Given the description of an element on the screen output the (x, y) to click on. 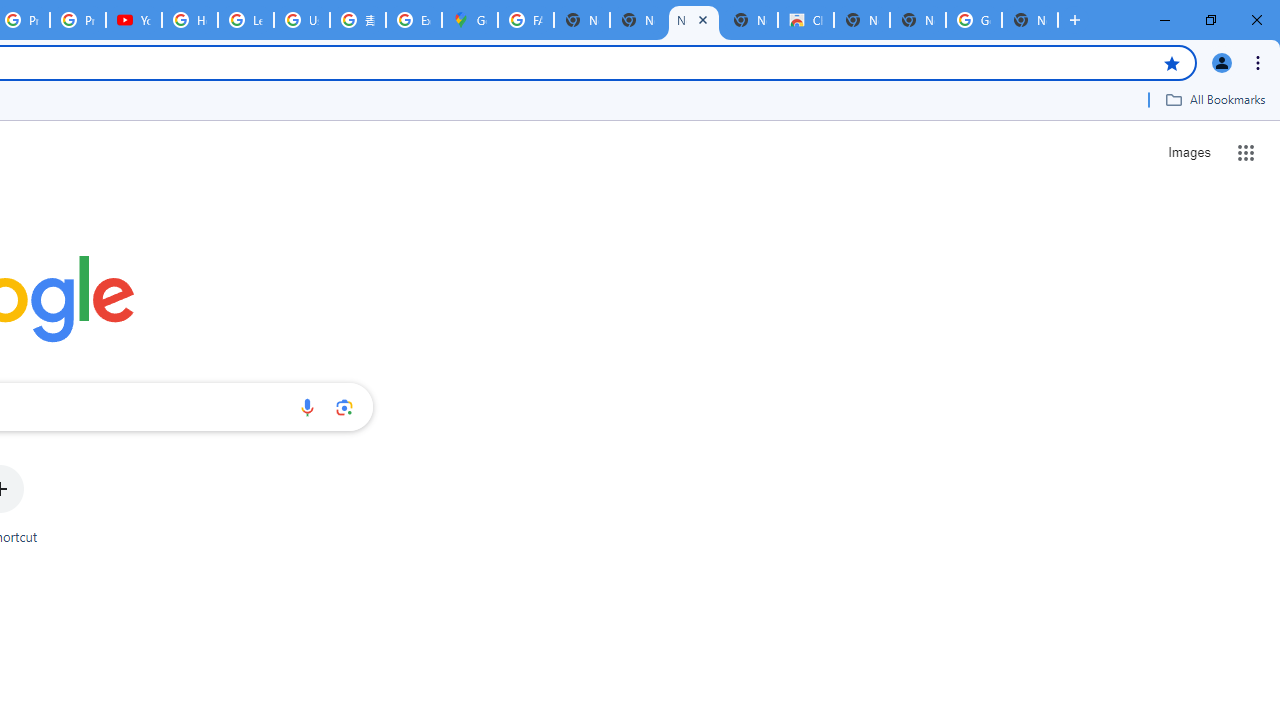
YouTube (134, 20)
Google Images (973, 20)
New Tab (1030, 20)
Explore new street-level details - Google Maps Help (413, 20)
